Given the description of an element on the screen output the (x, y) to click on. 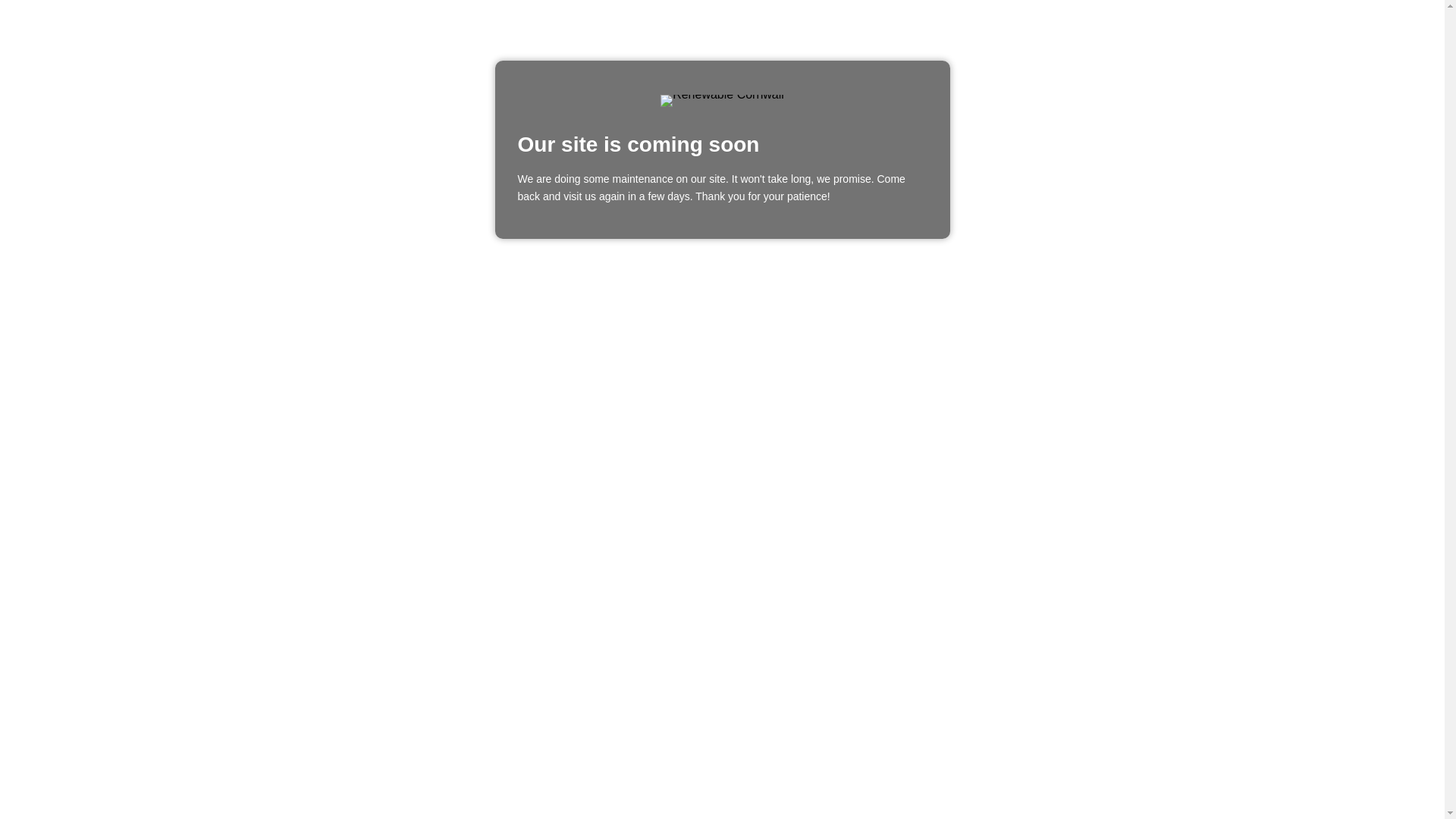
Renewable Cornwall Element type: hover (722, 100)
